Given the description of an element on the screen output the (x, y) to click on. 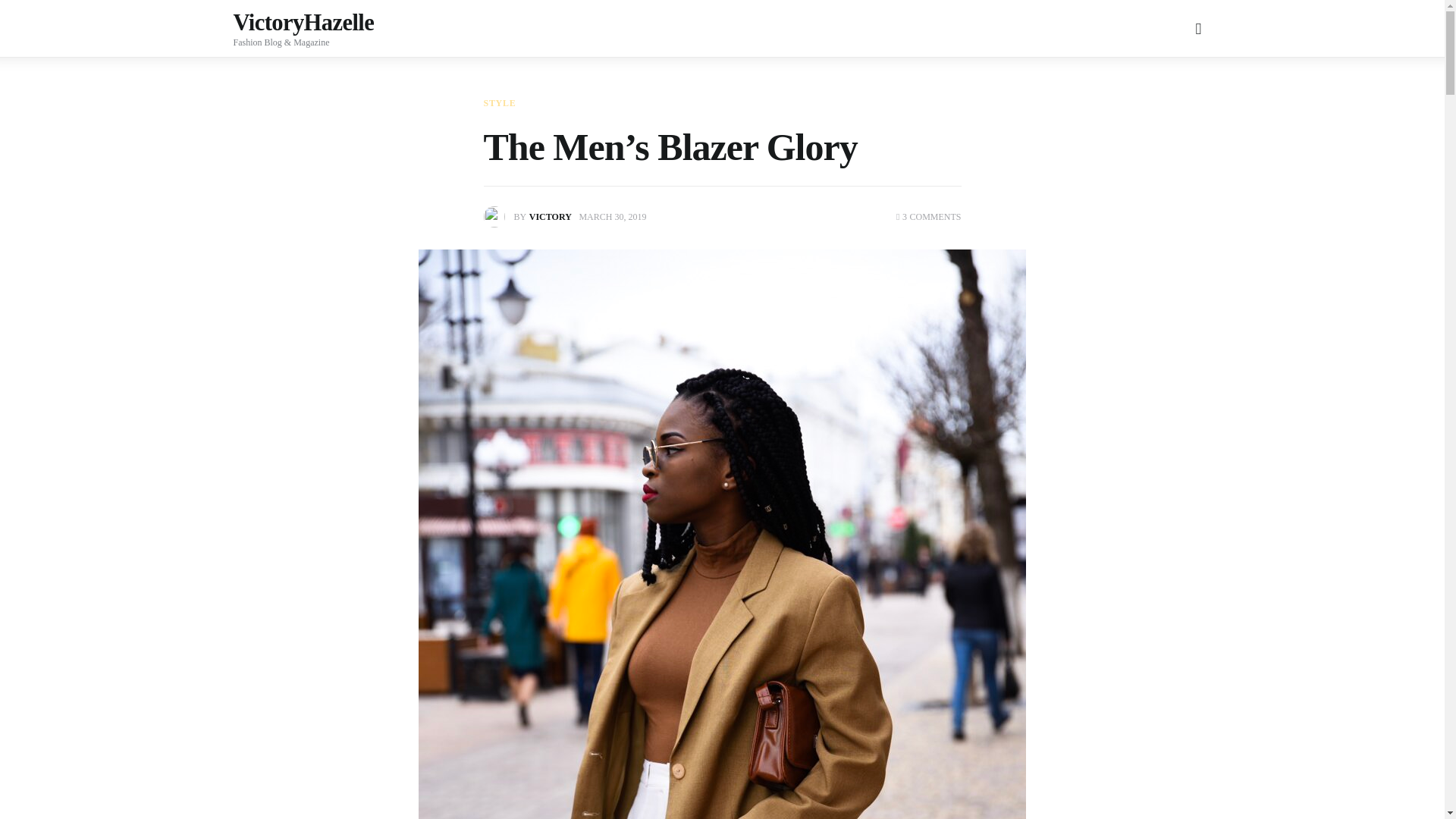
STYLE (499, 102)
3COMMENTS (928, 216)
